Given the description of an element on the screen output the (x, y) to click on. 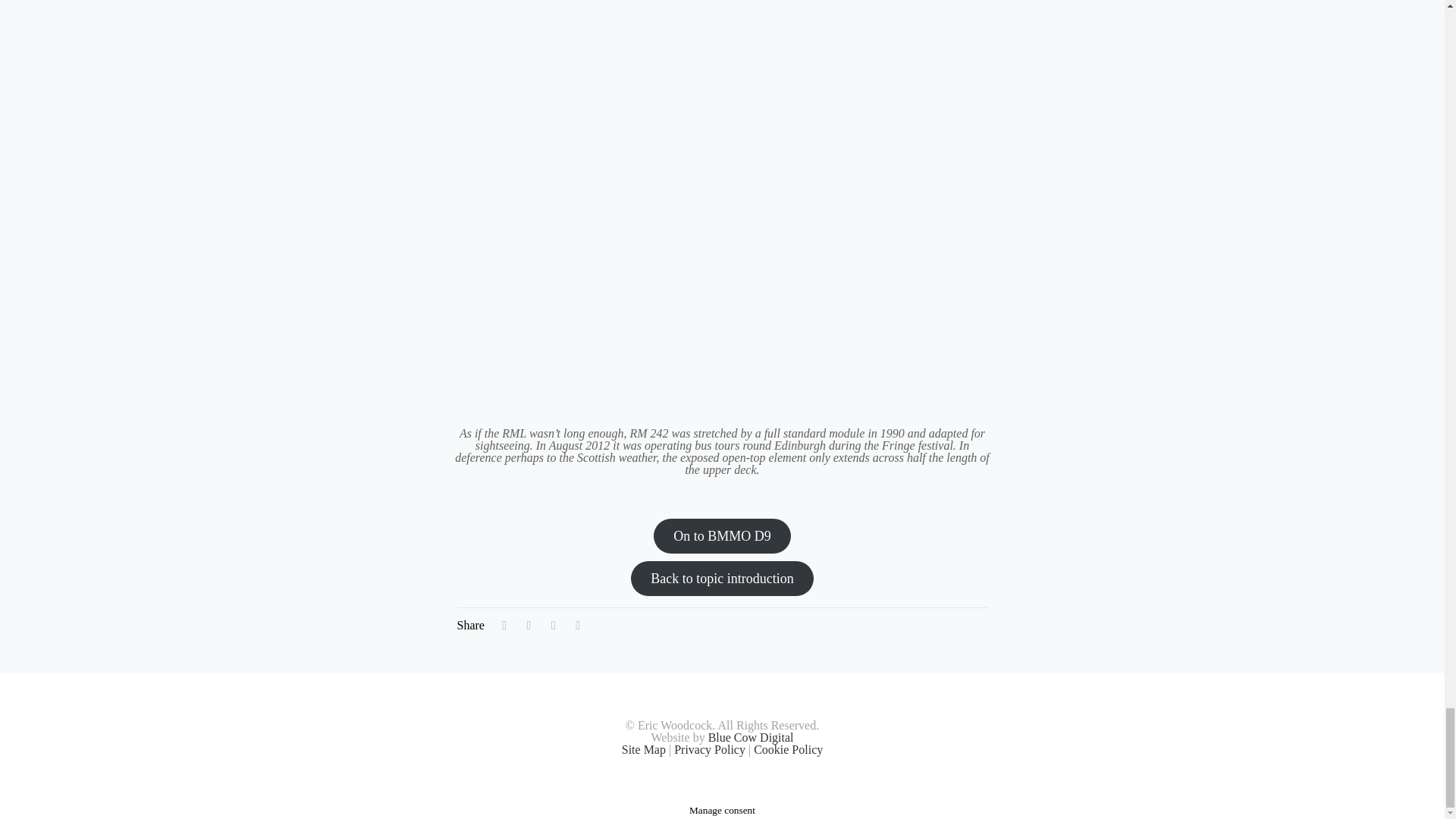
Site Map (643, 748)
On to BMMO D9 (721, 535)
Cookie Policy (788, 748)
Blue Cow Digital (750, 737)
Privacy Policy (709, 748)
Back to topic introduction (721, 578)
